Given the description of an element on the screen output the (x, y) to click on. 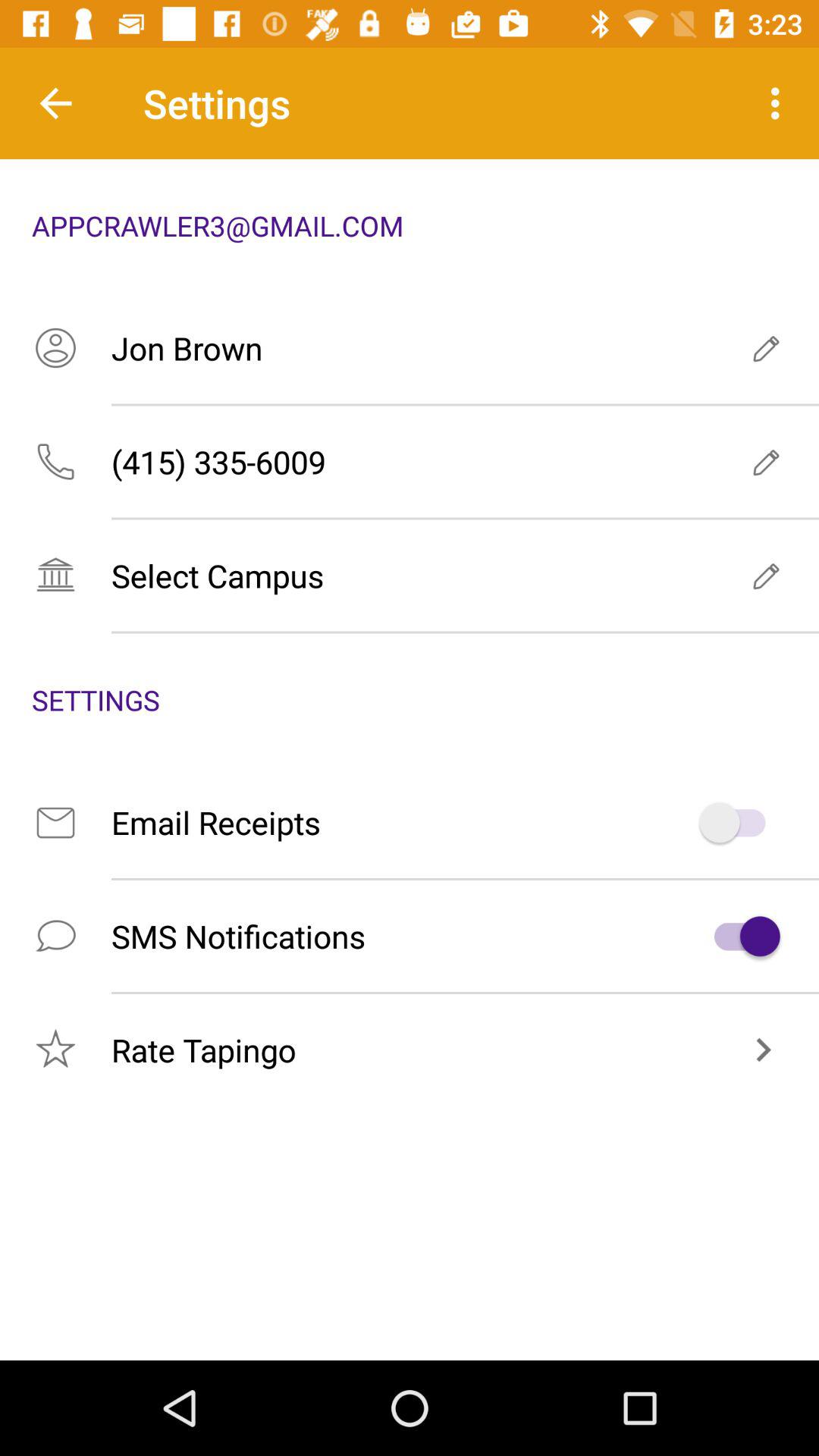
turn off jon brown  icon (409, 347)
